Given the description of an element on the screen output the (x, y) to click on. 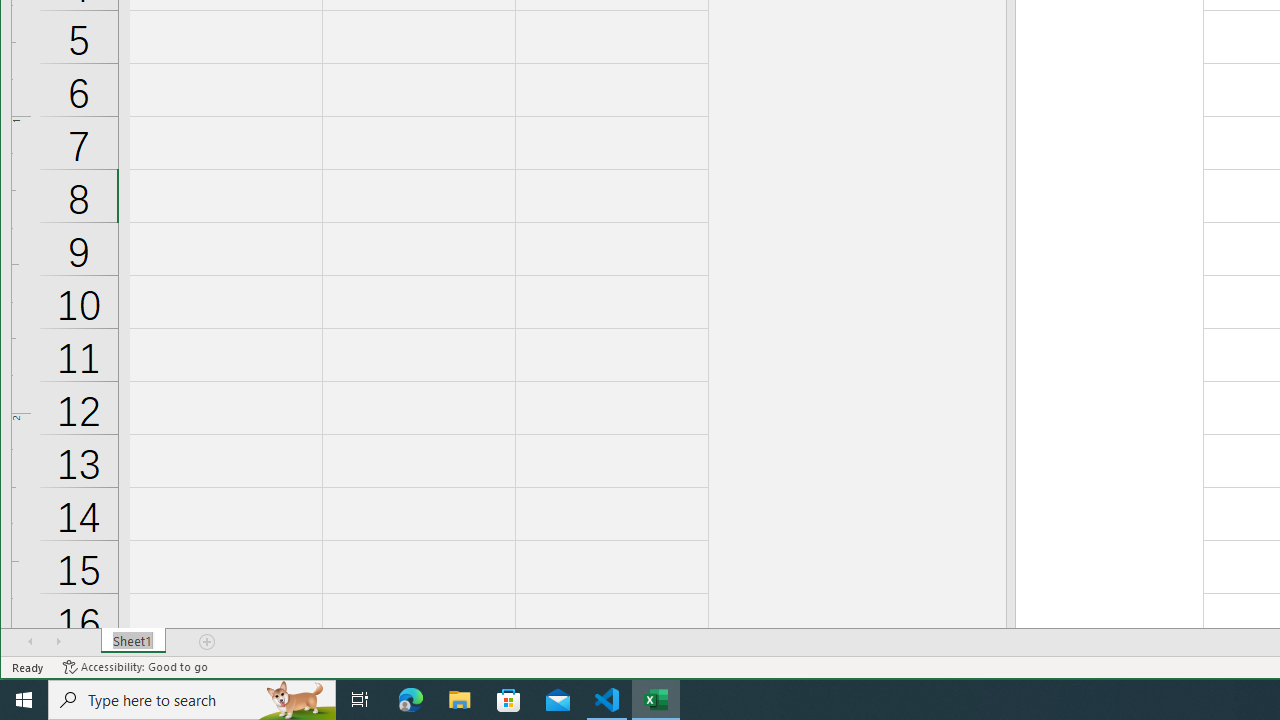
Sheet Tab (133, 641)
Excel - 1 running window (656, 699)
